Given the description of an element on the screen output the (x, y) to click on. 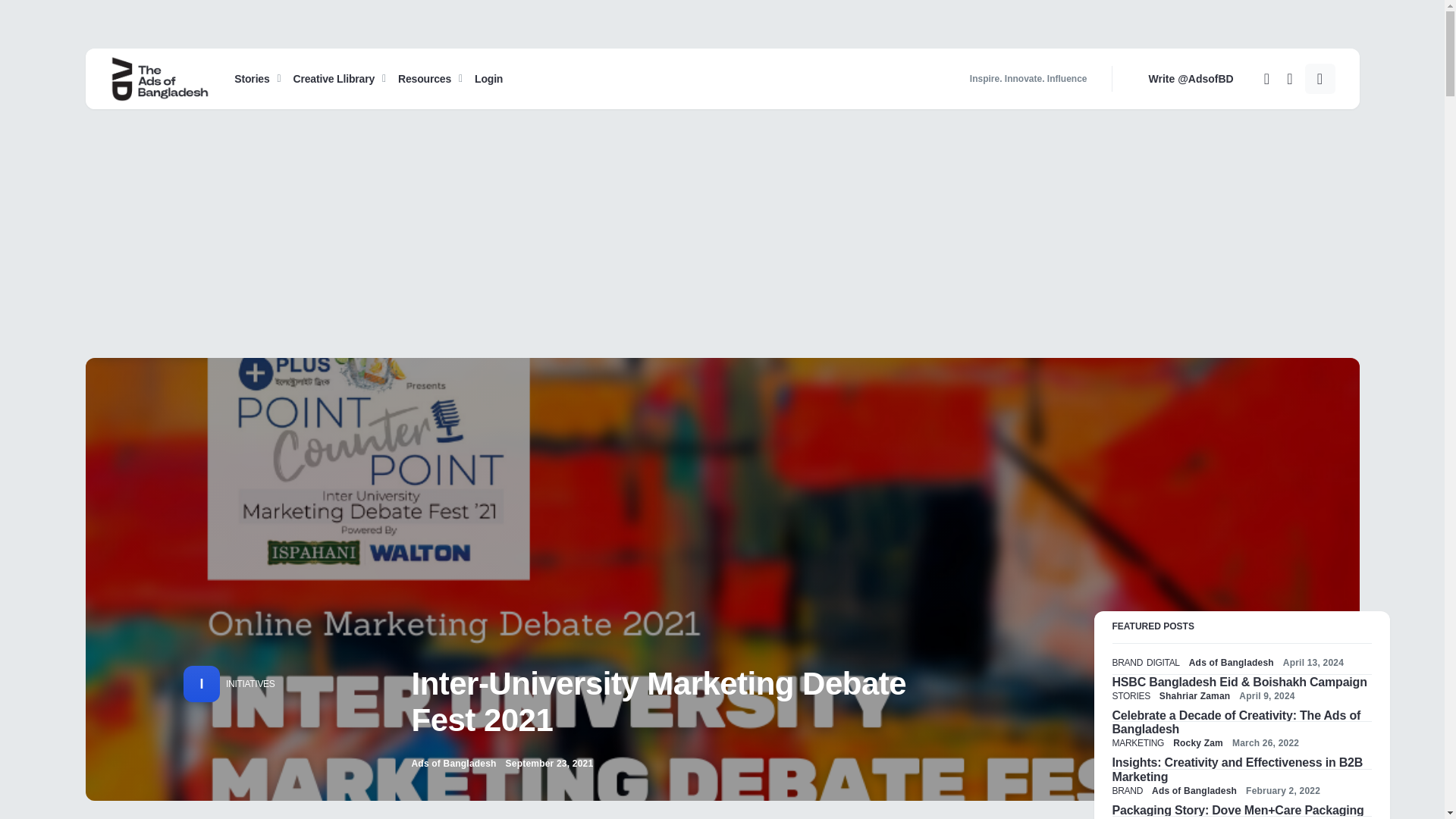
Resources (429, 78)
View all posts by Shahriar Zaman (1194, 695)
View all posts by Ads of Bangladesh (1193, 790)
View all posts by Ads of Bangladesh (453, 763)
Creative Llibrary (338, 78)
View all posts by Ads of Bangladesh (1231, 662)
View all posts by Rocky Zam (1198, 743)
